Given the description of an element on the screen output the (x, y) to click on. 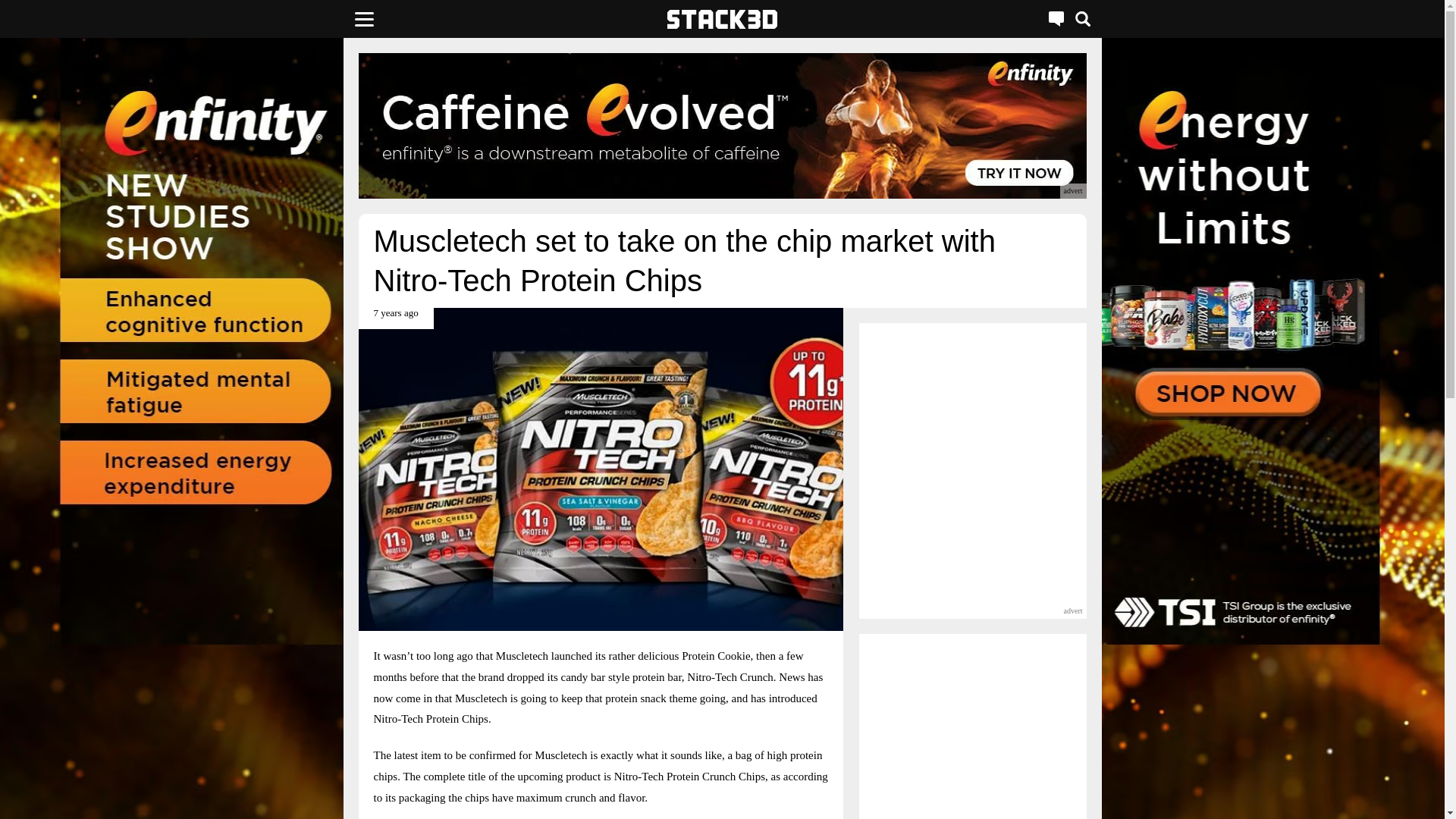
April 10th 2017 (395, 318)
